Given the description of an element on the screen output the (x, y) to click on. 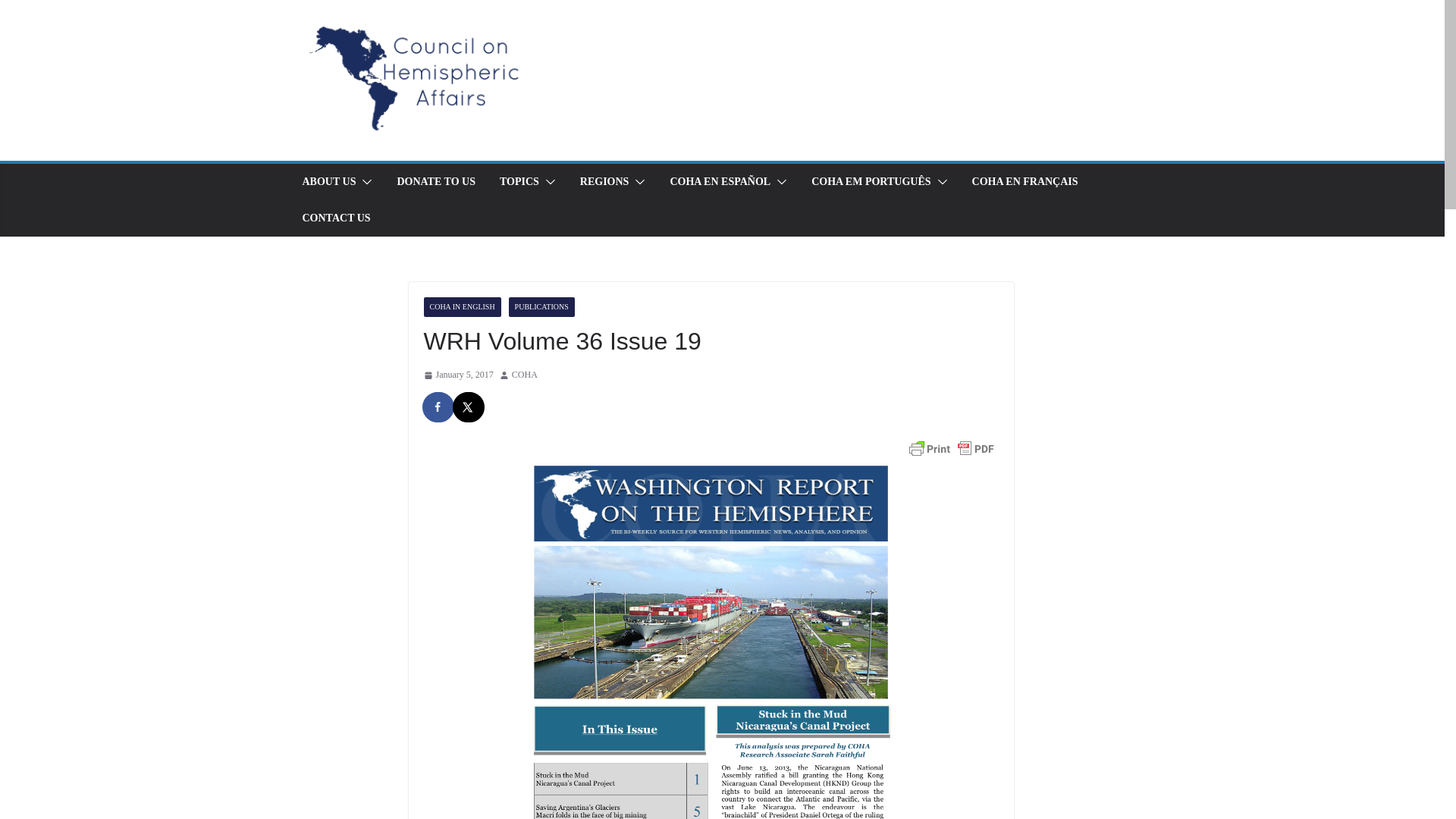
Share on X (467, 407)
REGIONS (603, 181)
COHA (524, 375)
7:03 pm (458, 375)
TOPICS (518, 181)
Share on Facebook (437, 407)
DONATE TO US (435, 181)
ABOUT US (328, 181)
